Given the description of an element on the screen output the (x, y) to click on. 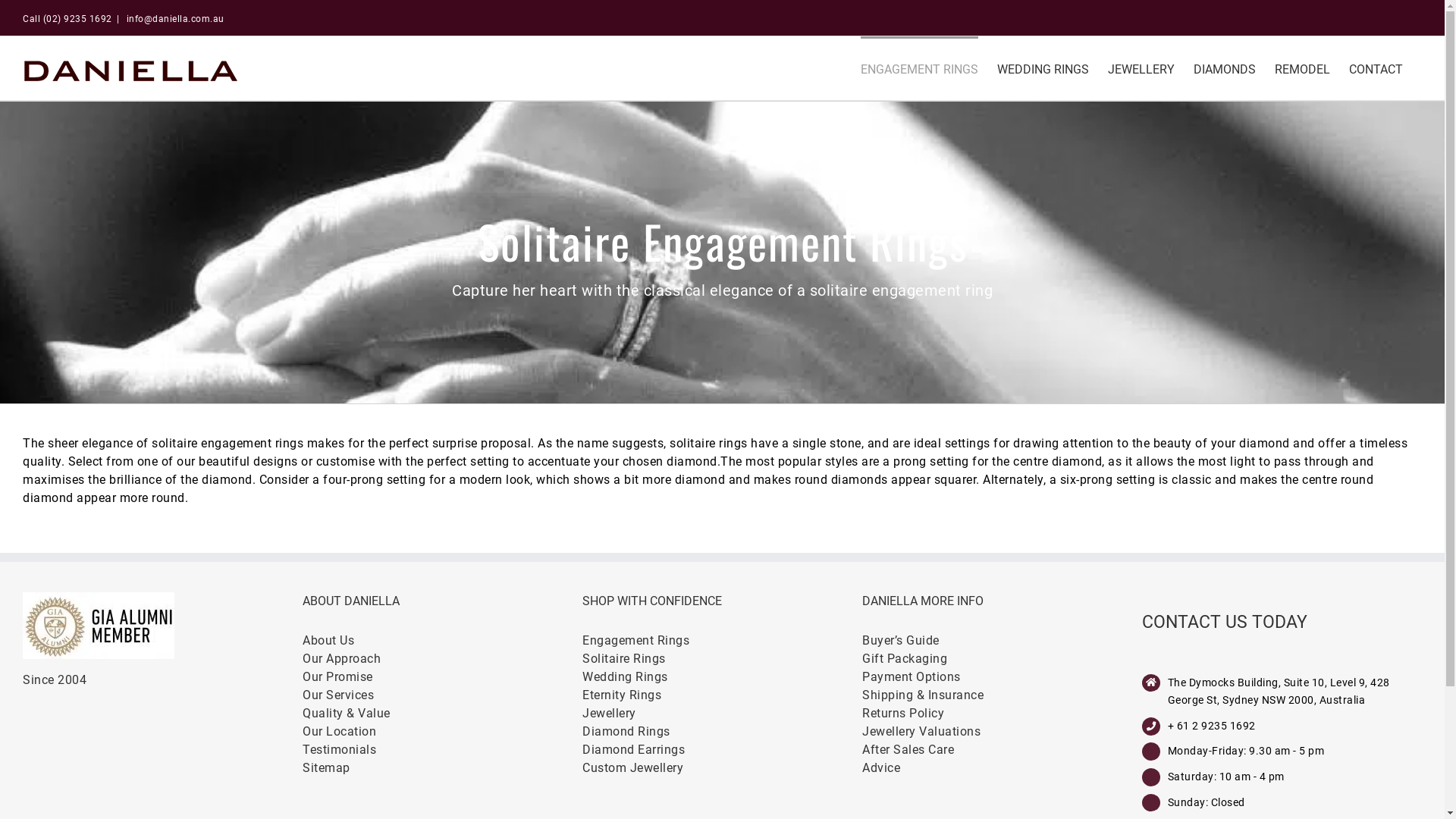
Sitemap Element type: text (442, 768)
Solitaire Rings Element type: text (722, 658)
JEWELLERY Element type: text (1140, 68)
Advice Element type: text (1002, 768)
Gift Packaging Element type: text (1002, 658)
Jewellery Valuations Element type: text (1002, 731)
About Us Element type: text (442, 640)
Payment Options Element type: text (1002, 677)
Wedding Rings Element type: text (722, 677)
Eternity Rings Element type: text (722, 695)
After Sales Care Element type: text (1002, 749)
ENGAGEMENT RINGS Element type: text (919, 68)
Jewellery Element type: text (722, 713)
Shipping & Insurance Element type: text (1002, 695)
WEDDING RINGS Element type: text (1042, 68)
Quality & Value Element type: text (442, 713)
Testimonials Element type: text (442, 749)
Our Services Element type: text (442, 695)
Our Promise Element type: text (442, 677)
REMODEL Element type: text (1302, 68)
info@daniella.com.au Element type: text (173, 18)
Diamond Earrings Element type: text (722, 749)
CONTACT Element type: text (1375, 68)
Diamond Rings Element type: text (722, 731)
Our Location Element type: text (442, 731)
Custom Jewellery Element type: text (722, 768)
Our Approach Element type: text (442, 658)
Returns Policy Element type: text (1002, 713)
DIAMONDS Element type: text (1224, 68)
Engagement Rings Element type: text (722, 640)
